Given the description of an element on the screen output the (x, y) to click on. 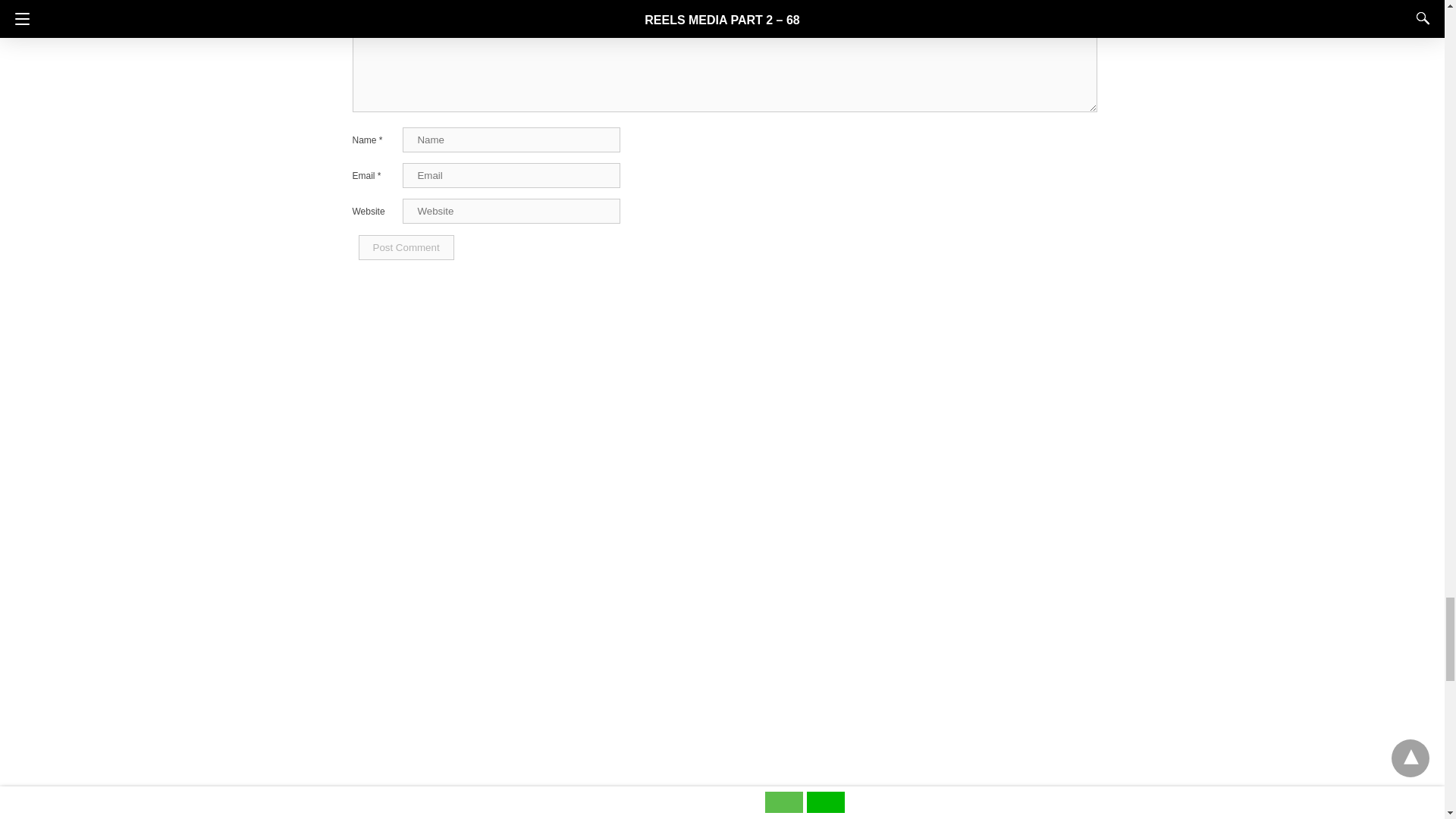
Post Comment (405, 247)
Post Comment (405, 247)
